Given the description of an element on the screen output the (x, y) to click on. 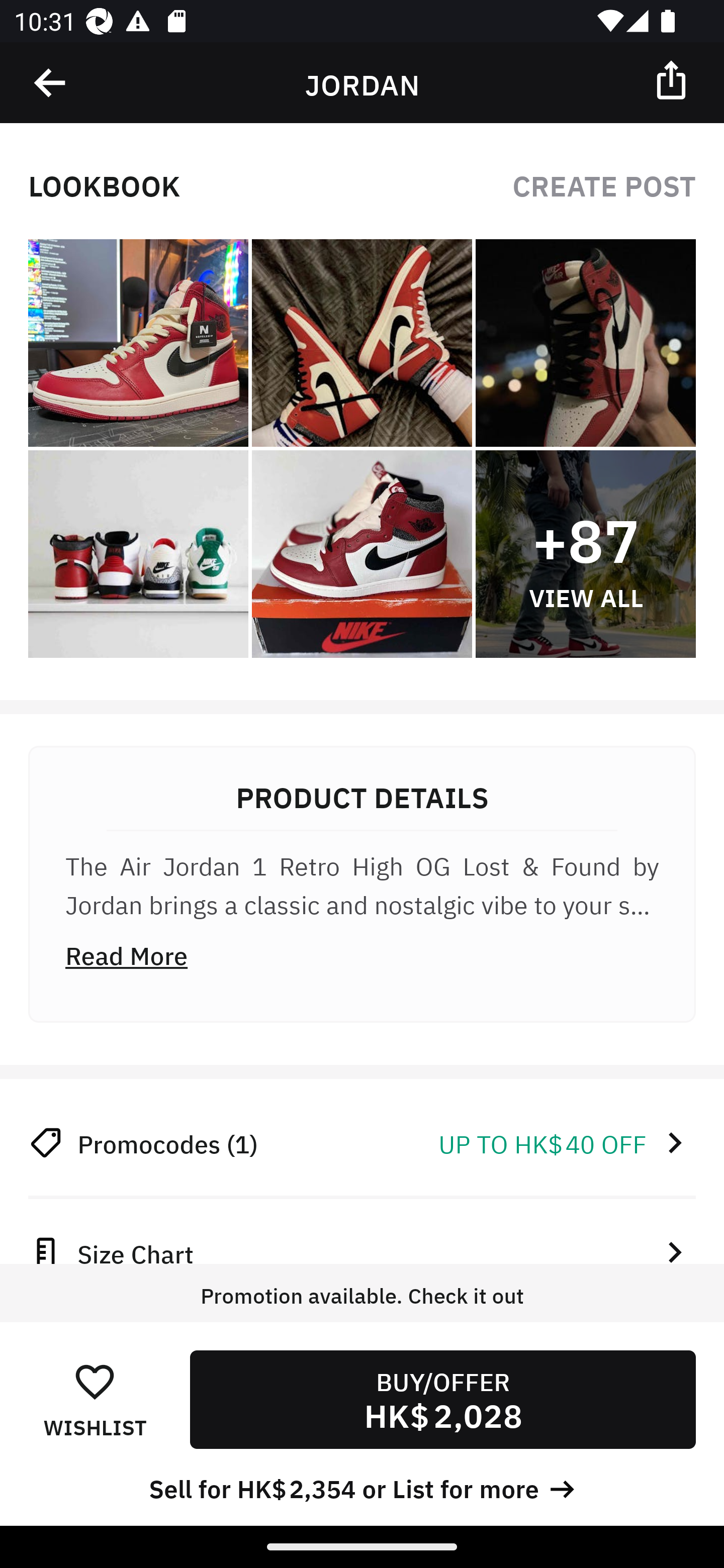
 (50, 83)
 (672, 79)
CREATE POST (603, 183)
Promocodes (1) UP TO HK$ 40 OFF  (361, 1142)
Size Chart  (361, 1246)
BUY/OFFER HK$ 2,028 (442, 1399)
󰋕 (94, 1380)
Sell for HK$ 2,354 or List for more (361, 1486)
